Given the description of an element on the screen output the (x, y) to click on. 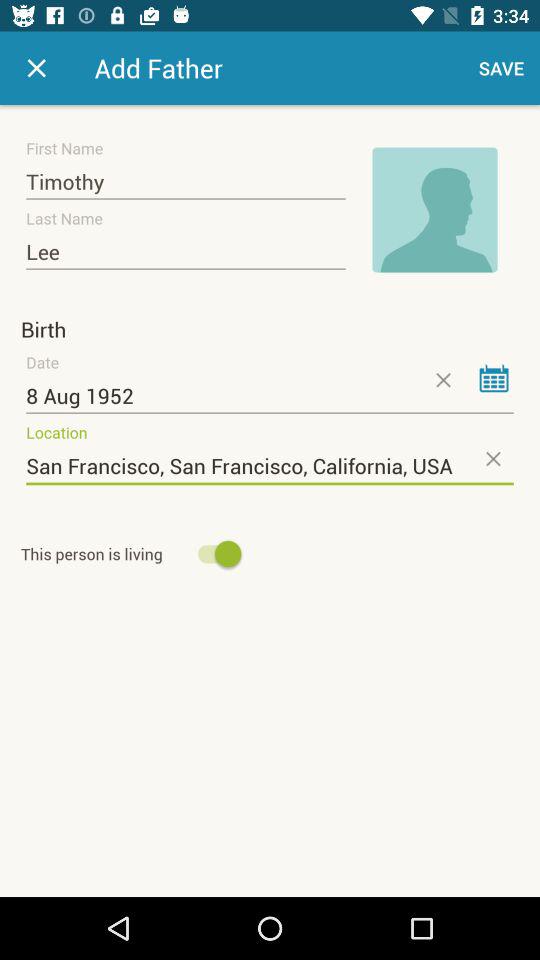
choose the san francisco san (270, 466)
